Given the description of an element on the screen output the (x, y) to click on. 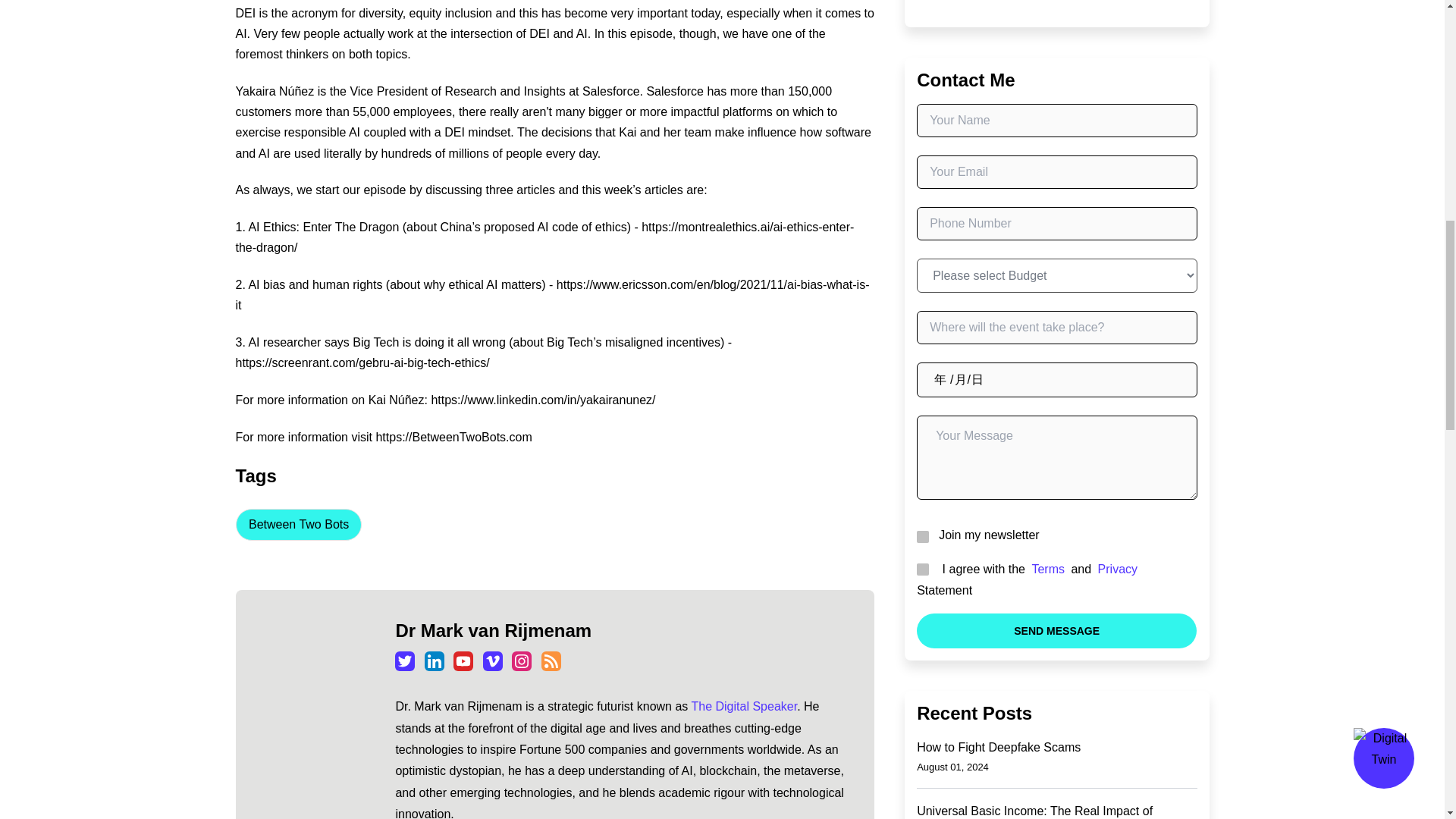
Yes (921, 535)
Linkedin (434, 660)
Between Two Bots (297, 524)
Twitter (404, 660)
Yes (921, 568)
